Given the description of an element on the screen output the (x, y) to click on. 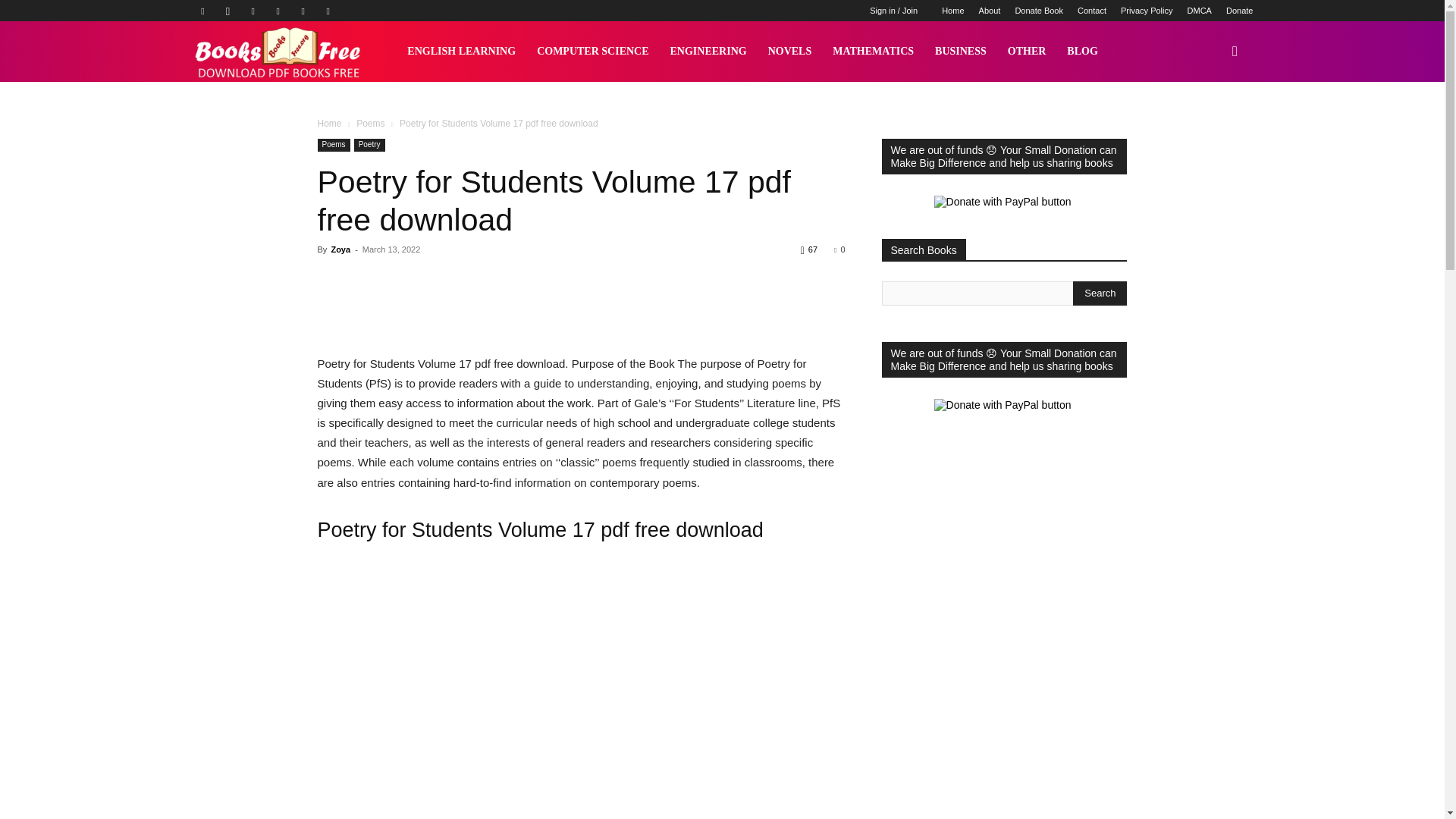
Search (1099, 293)
Facebook (202, 10)
Twitter (303, 10)
Pinterest (277, 10)
Paypal (252, 10)
Youtube (328, 10)
Instagram (228, 10)
